Given the description of an element on the screen output the (x, y) to click on. 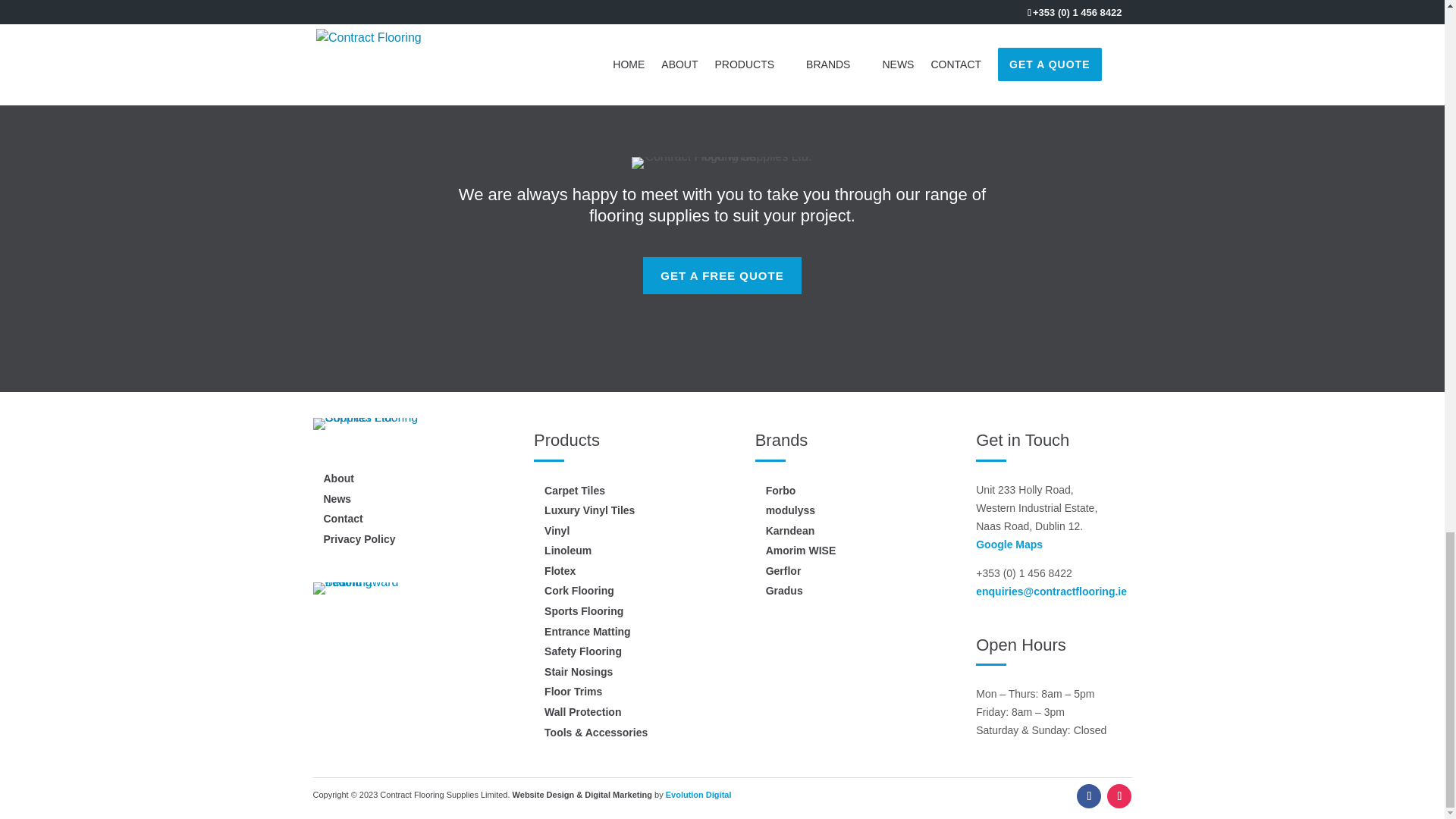
Follow on Instagram (1118, 795)
Contract Flooring Supplies Ltd. logo white (721, 162)
Contract Flooring Supplies Ltd. (385, 423)
contract-flooring-award-best-in-ireland (355, 588)
Follow on Facebook (1088, 795)
